Given the description of an element on the screen output the (x, y) to click on. 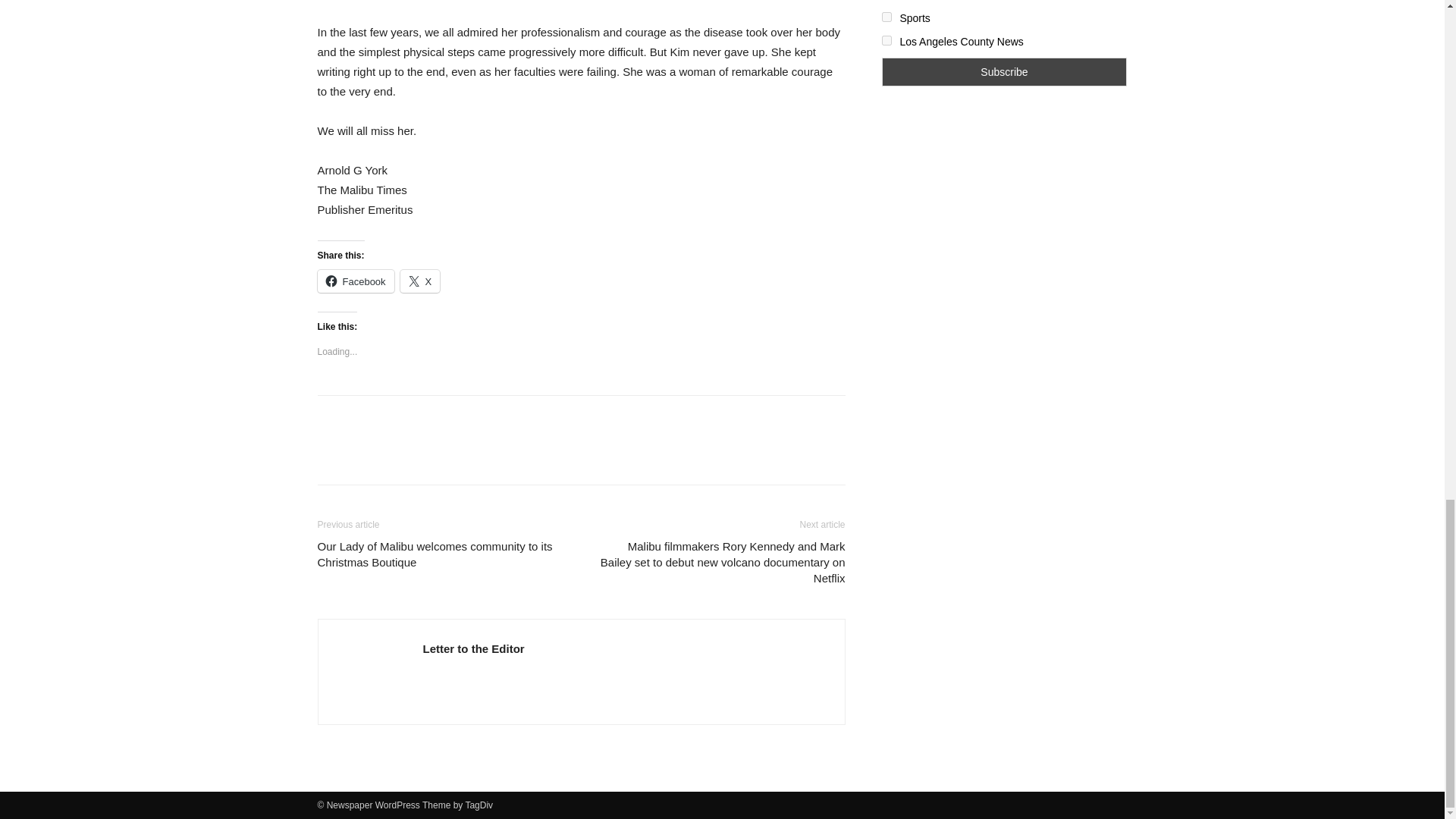
6 (885, 40)
Subscribe (1003, 71)
5 (885, 17)
